Given the description of an element on the screen output the (x, y) to click on. 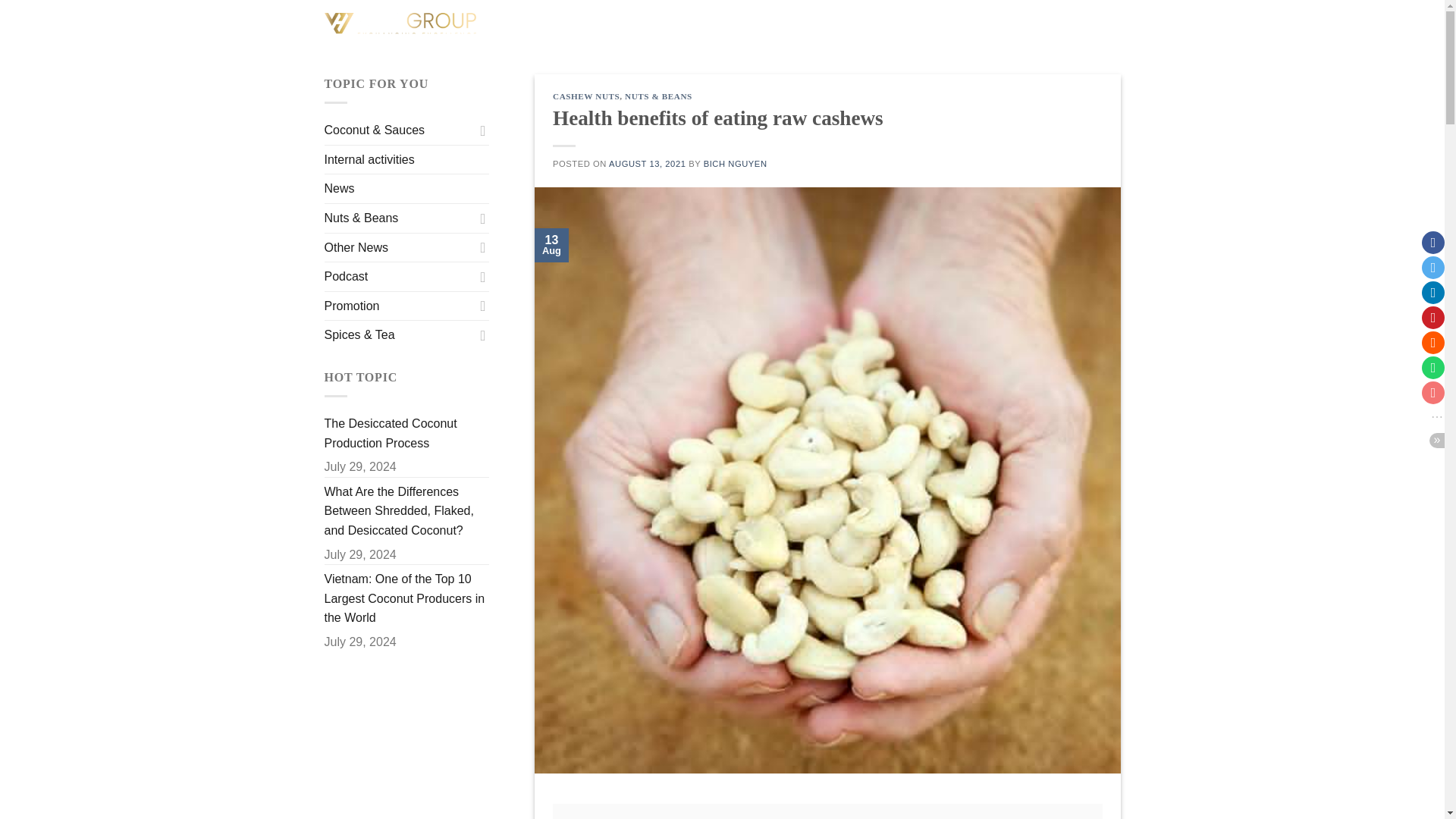
ABOUT US (745, 25)
Other News (399, 247)
Internal activities (369, 159)
News (339, 188)
CONTACT (1086, 25)
Promotion (399, 306)
Podcast (399, 276)
PRODUCTS (843, 25)
CAREER (1002, 25)
VHB Group - Exchanging Excellence (400, 25)
